Given the description of an element on the screen output the (x, y) to click on. 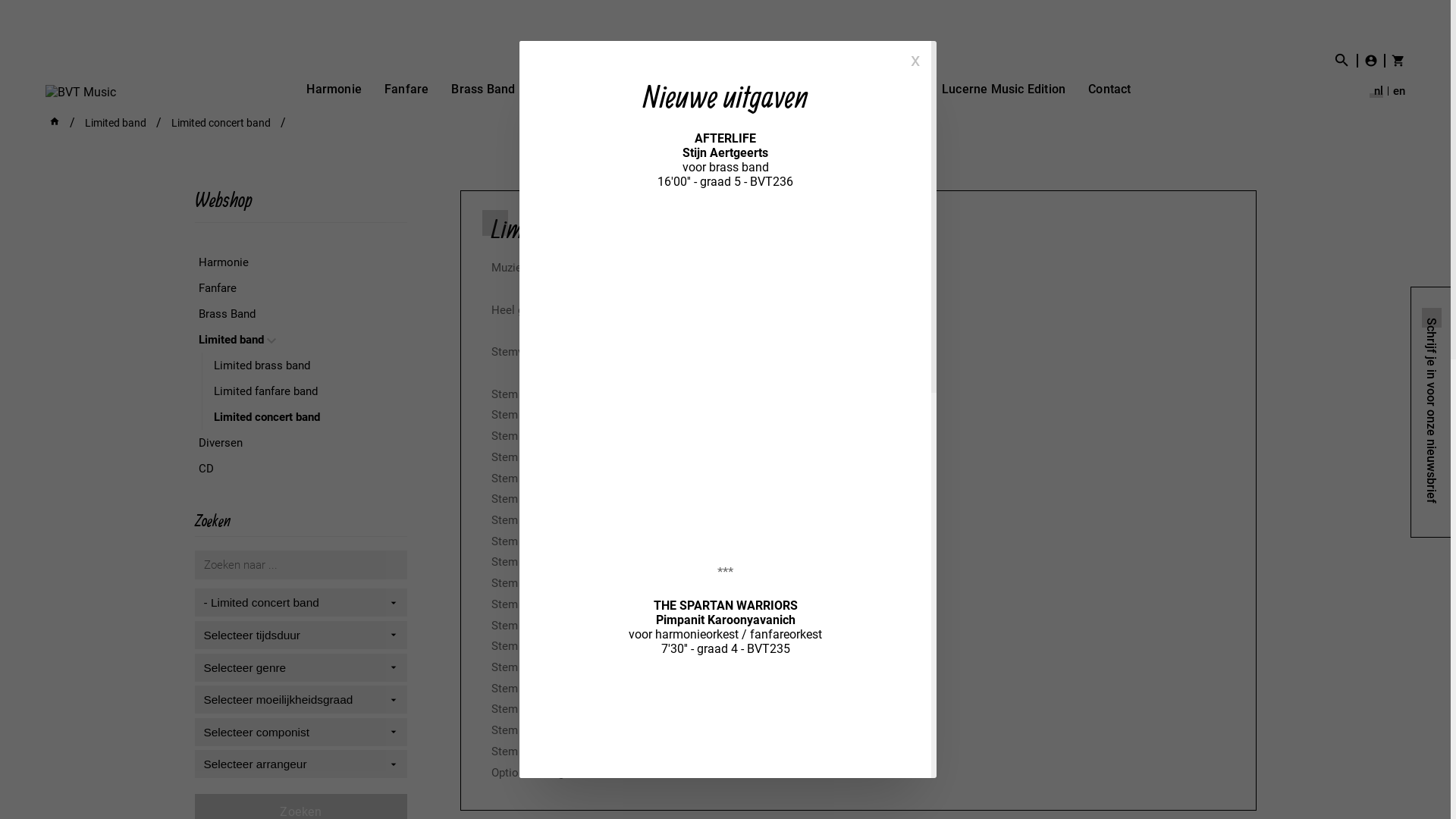
Brass Band Element type: text (482, 88)
CD Element type: text (296, 468)
Limited concert band Element type: text (220, 122)
Diversen Element type: text (658, 88)
Harmonie Element type: text (333, 88)
Limited band Element type: text (115, 122)
shopping_cart Element type: text (1394, 59)
Harmonie Element type: text (296, 262)
home Element type: text (54, 122)
Schrijf je in voor onze nieuwsbrief Element type: text (1430, 411)
Limited band
keyboard_arrow_down Element type: text (296, 339)
Brass Band Element type: text (296, 313)
Limited band Element type: text (573, 88)
Diversen Element type: text (296, 442)
CD Element type: text (712, 88)
Limited brass band Element type: text (303, 365)
Limited fanfare band Element type: text (303, 391)
Dealers Element type: text (897, 88)
Lucerne Music Edition Element type: text (1003, 88)
Fanfare Element type: text (406, 88)
search Element type: text (1335, 60)
en Element type: text (1396, 90)
Fanfare Element type: text (296, 288)
Contact Element type: text (1109, 88)
account_circle Element type: text (1366, 59)
Limited concert band Element type: text (303, 416)
x Element type: text (915, 59)
nl Element type: text (1376, 90)
BVT Music Element type: hover (80, 91)
Opname faciliteiten Element type: text (798, 88)
